Given the description of an element on the screen output the (x, y) to click on. 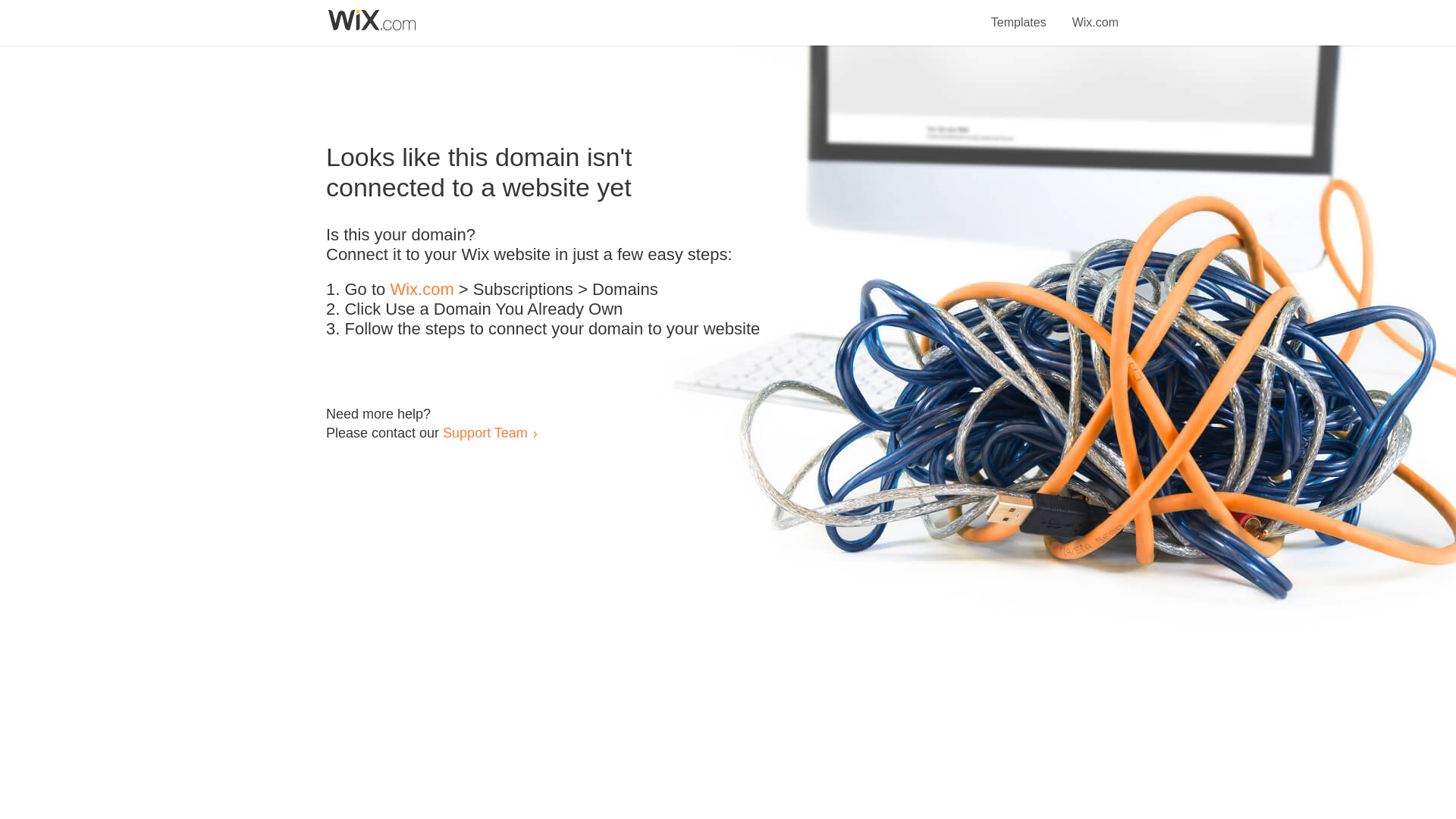
Wix.com (1095, 14)
Wix.com (421, 289)
Support Team (484, 432)
Templates (1018, 14)
